Given the description of an element on the screen output the (x, y) to click on. 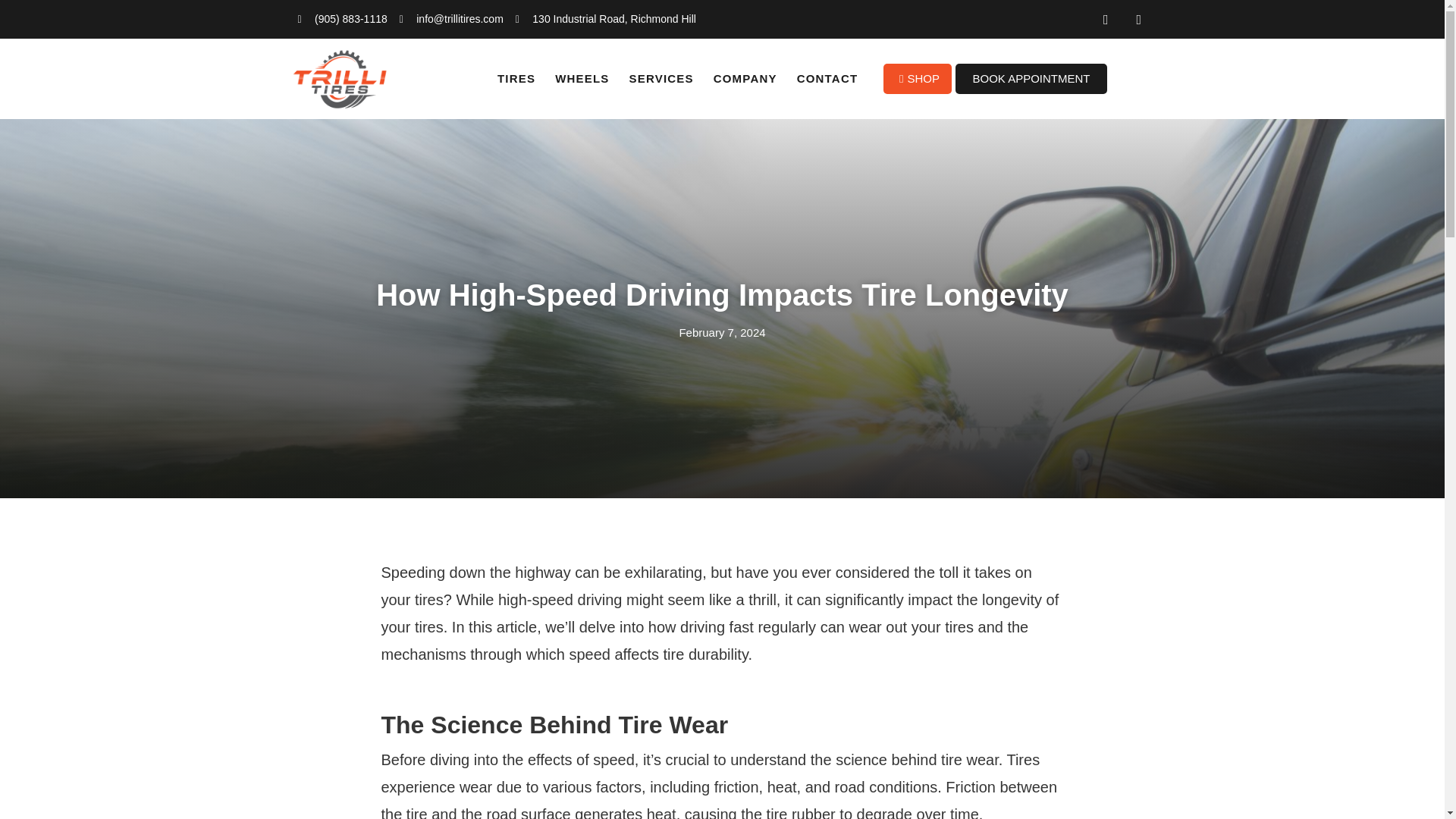
COMPANY (745, 78)
130 Industrial Road, Richmond Hill (605, 19)
BOOK APPOINTMENT (1030, 78)
TIRES (516, 78)
WHEELS (581, 78)
SERVICES (661, 78)
SHOP (917, 78)
CONTACT (827, 78)
